Given the description of an element on the screen output the (x, y) to click on. 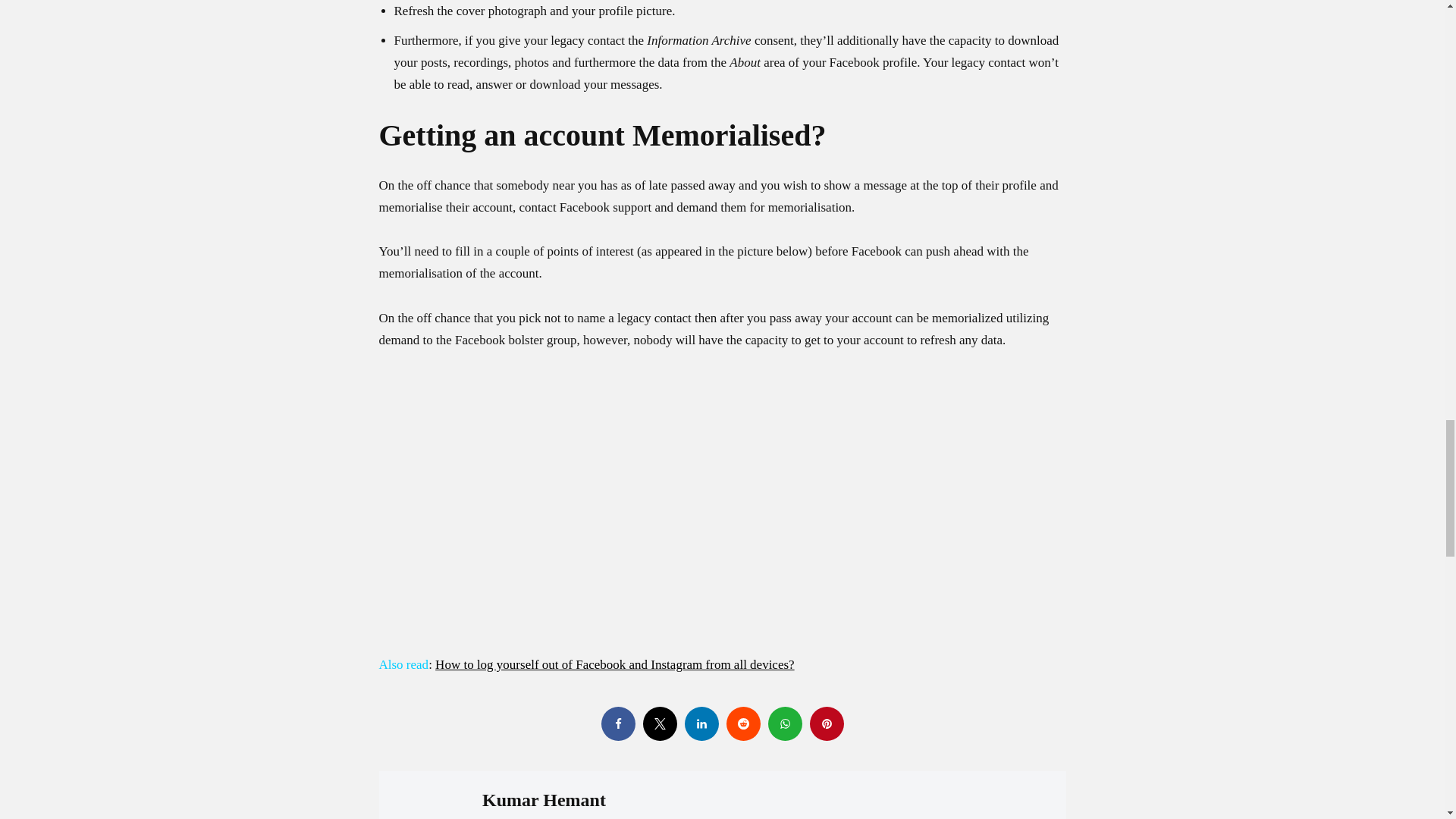
Facebook (616, 723)
Advertisement (721, 525)
Twitter (660, 723)
